Given the description of an element on the screen output the (x, y) to click on. 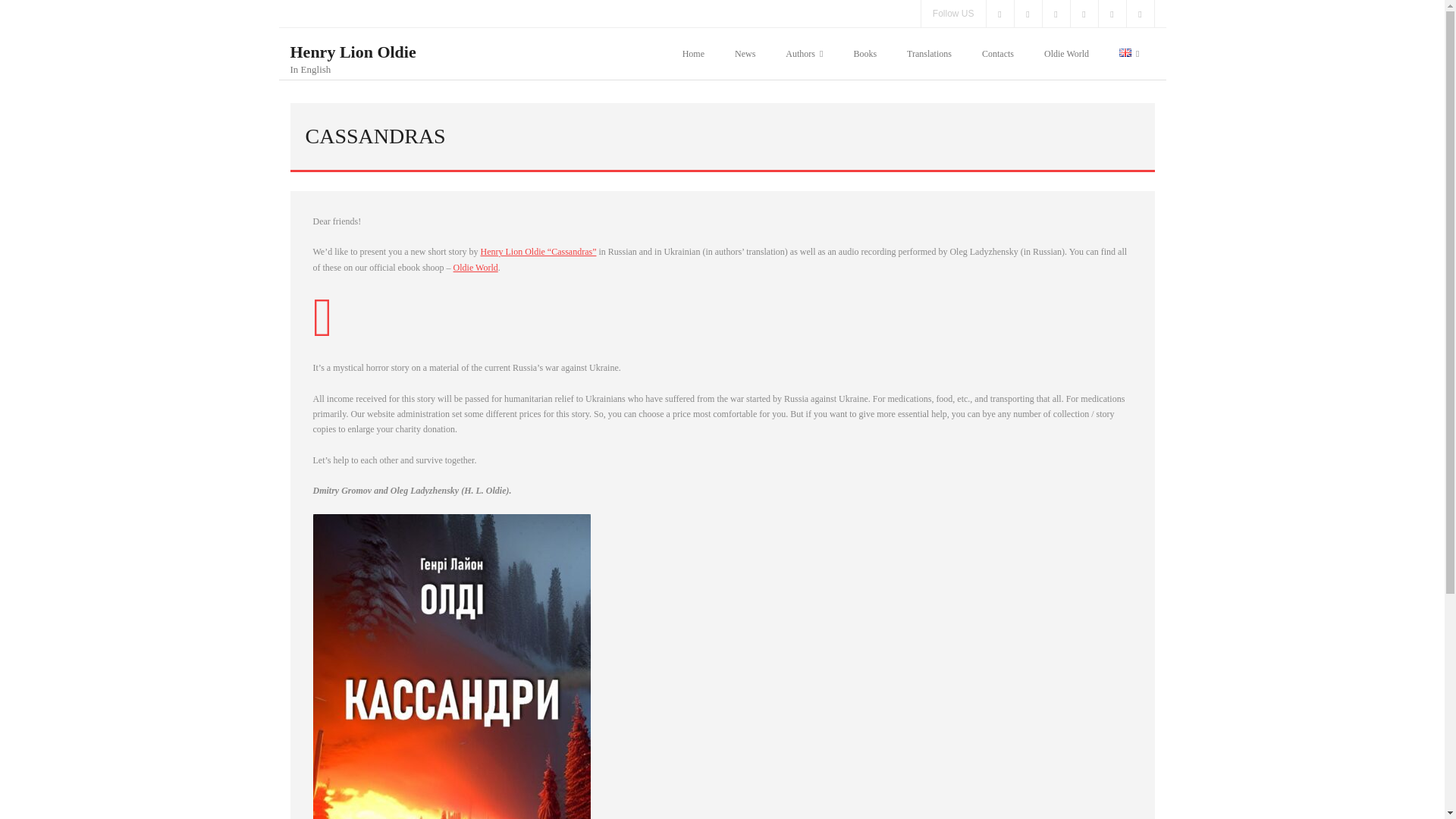
Translations (928, 53)
Books (864, 53)
Home (692, 53)
Authors (804, 53)
Contacts (997, 53)
Oldie World (474, 267)
News (744, 53)
Henry Lion Oldie (351, 51)
In English  (351, 69)
Oldie World (1066, 53)
